Given the description of an element on the screen output the (x, y) to click on. 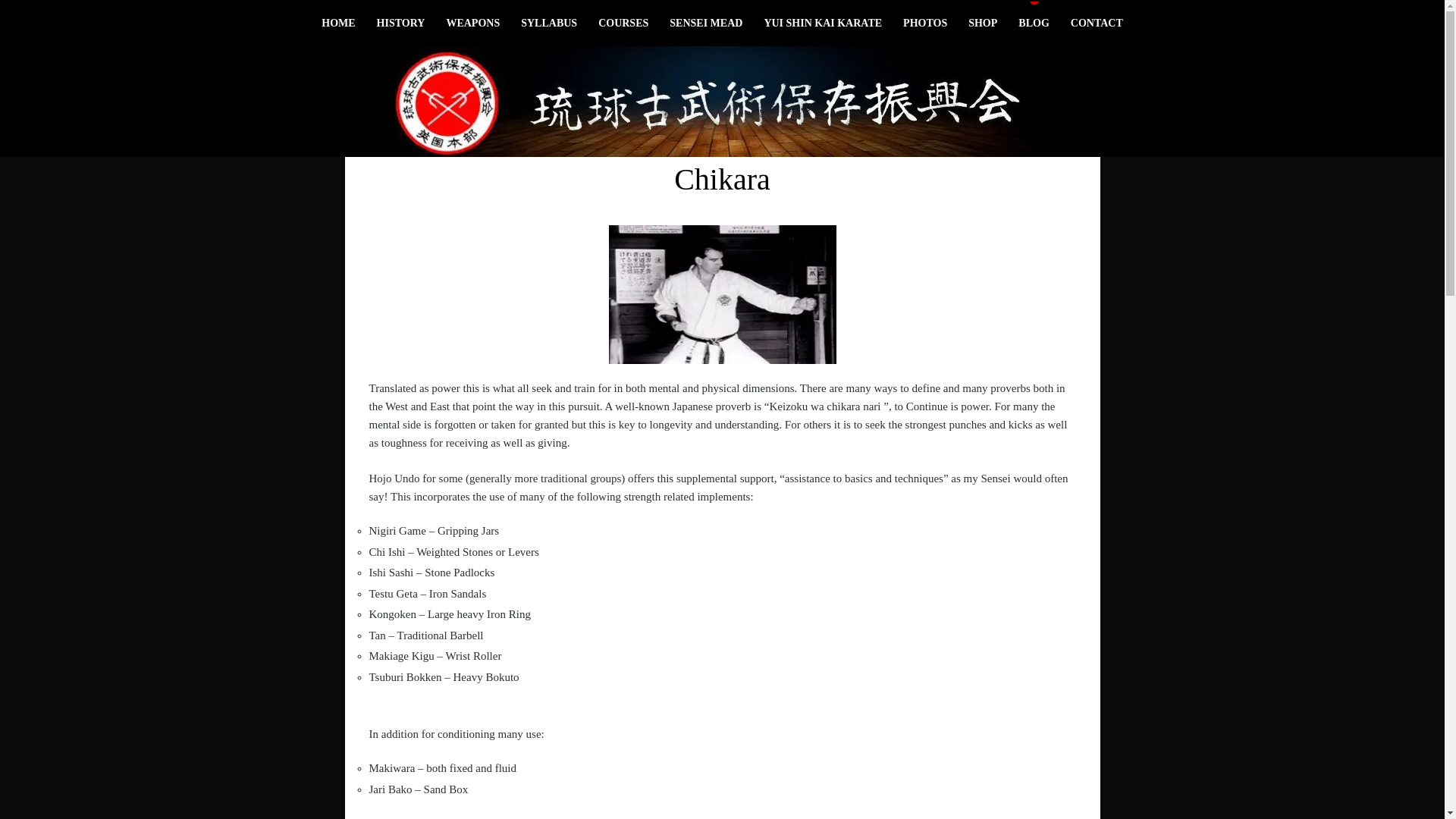
COURSES (623, 22)
YUI SHIN KAI KARATE (822, 22)
SYLLABUS (549, 22)
CONTACT (1096, 22)
SENSEI MEAD (705, 22)
BLOG (1033, 22)
WEAPONS (473, 22)
HOME (338, 22)
PHOTOS (925, 22)
Permalink to Chikara (721, 294)
SHOP (982, 22)
HISTORY (400, 22)
